Given the description of an element on the screen output the (x, y) to click on. 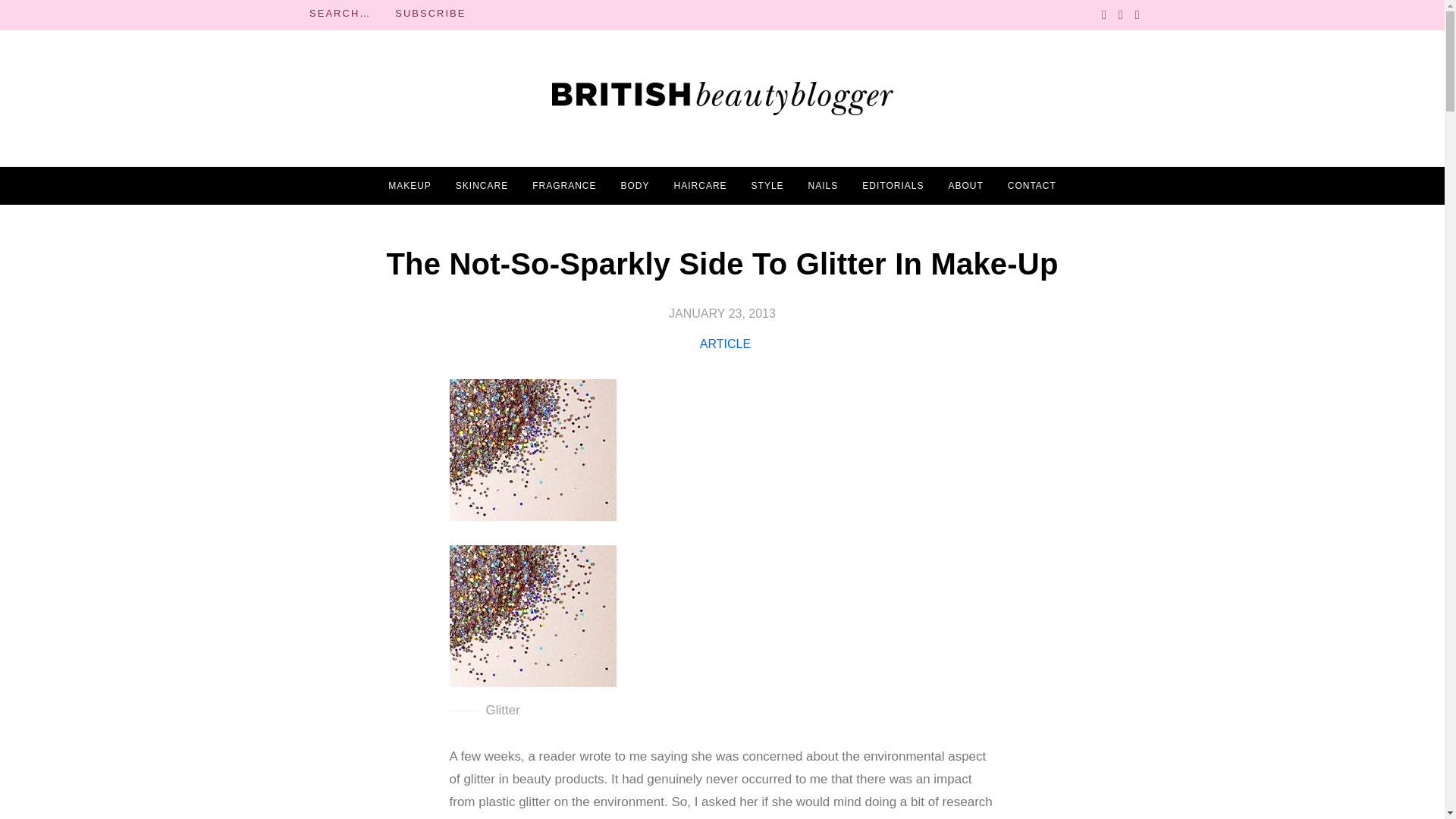
ARTICLE (725, 343)
SKINCARE (481, 185)
MAKEUP (409, 185)
SUBSCRIBE (429, 13)
FRAGRANCE (563, 185)
EDITORIALS (892, 185)
HAIRCARE (700, 185)
ABOUT (964, 185)
CONTACT (1032, 185)
